Given the description of an element on the screen output the (x, y) to click on. 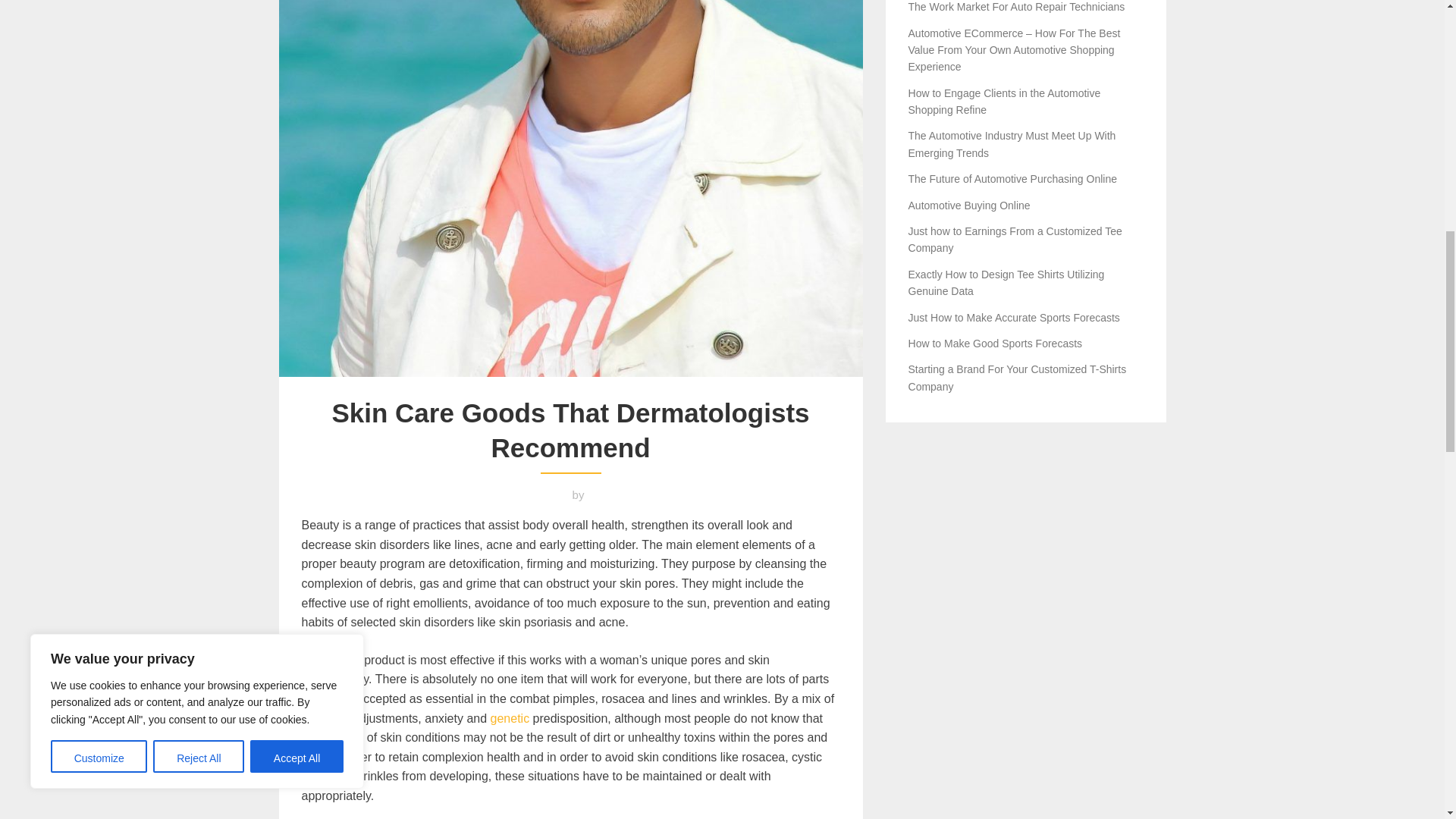
The Work Market For Auto Repair Technicians (1016, 6)
The Automotive Industry Must Meet Up With Emerging Trends (1012, 143)
Automotive Buying Online (969, 205)
genetic (509, 717)
The Future of Automotive Purchasing Online (1012, 178)
How to Engage Clients in the Automotive Shopping Refine (1004, 101)
